Given the description of an element on the screen output the (x, y) to click on. 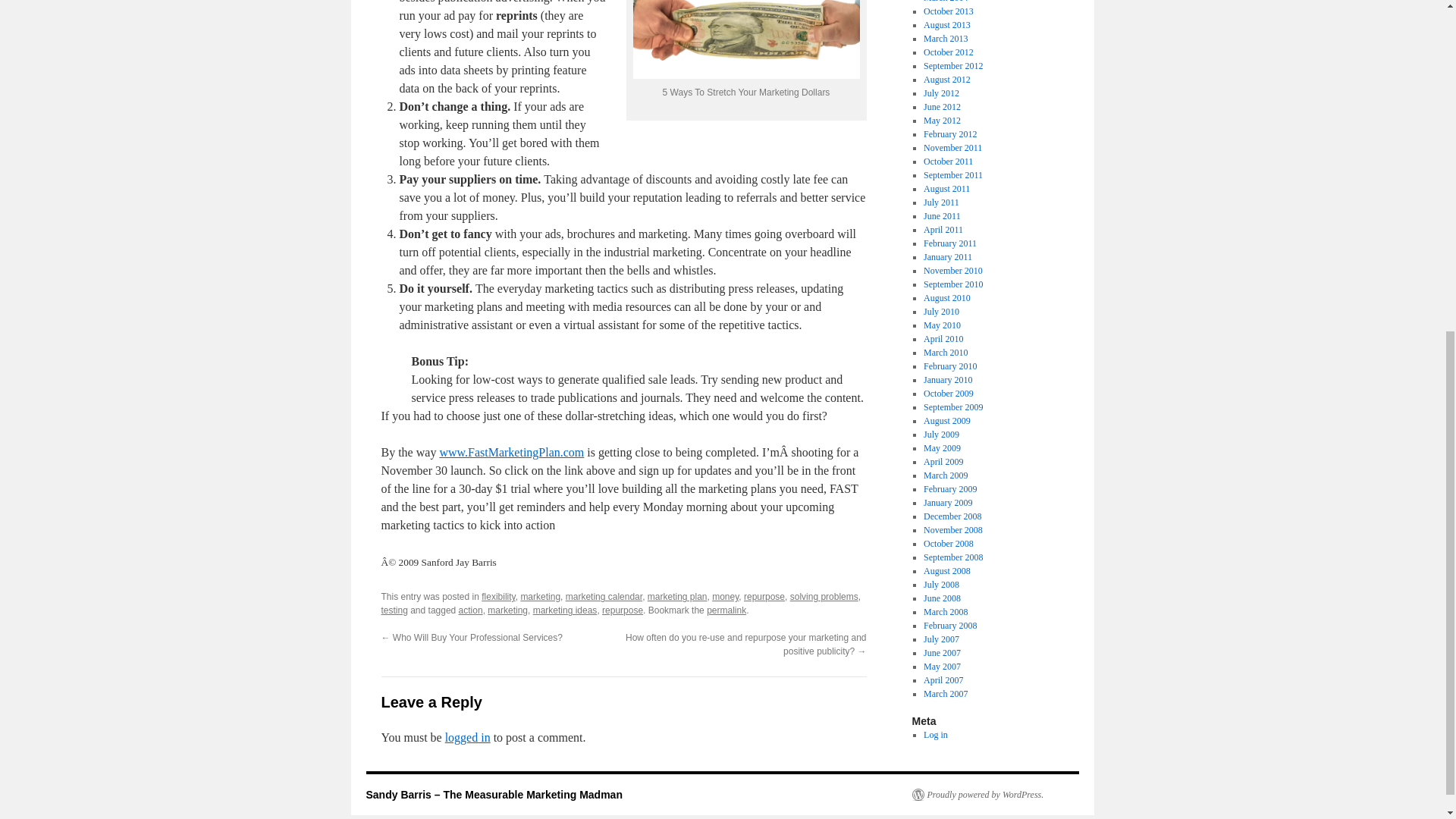
flexibility (498, 596)
money (724, 596)
repurpose (622, 610)
permalink (725, 610)
marketing (539, 596)
Permalink to 5 Ways To Stretch Your Marketing Dollars (725, 610)
marketing plan (677, 596)
marketing calendar (604, 596)
solving problems (824, 596)
testing (393, 610)
repurpose (764, 596)
www.FastMarketingPlan.com (511, 451)
marketing (507, 610)
marketing ideas (564, 610)
logged in (467, 737)
